Given the description of an element on the screen output the (x, y) to click on. 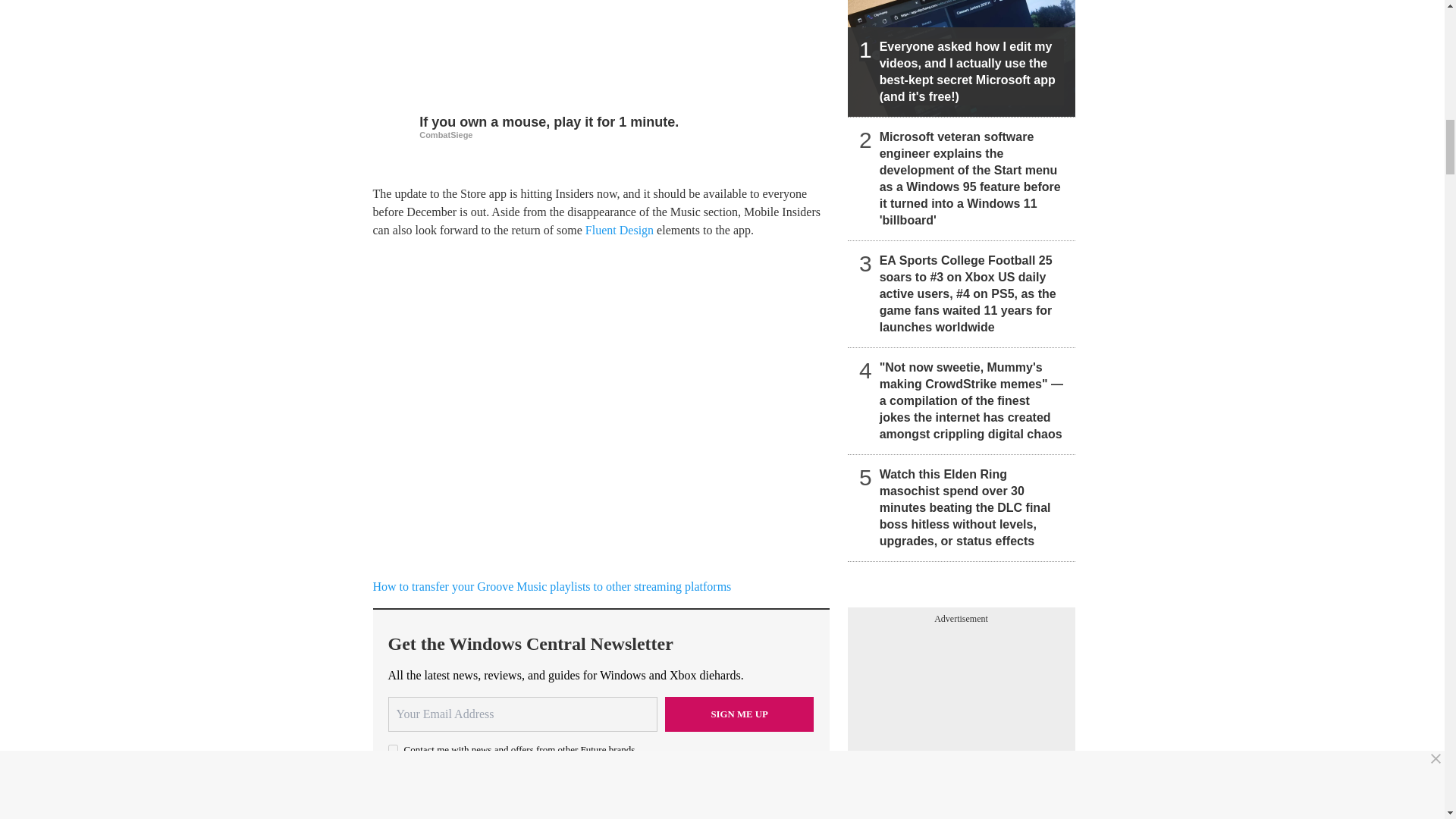
Sign me up (739, 714)
If you own a mouse, play it for 1 minute. (601, 125)
on (392, 774)
on (392, 749)
